Given the description of an element on the screen output the (x, y) to click on. 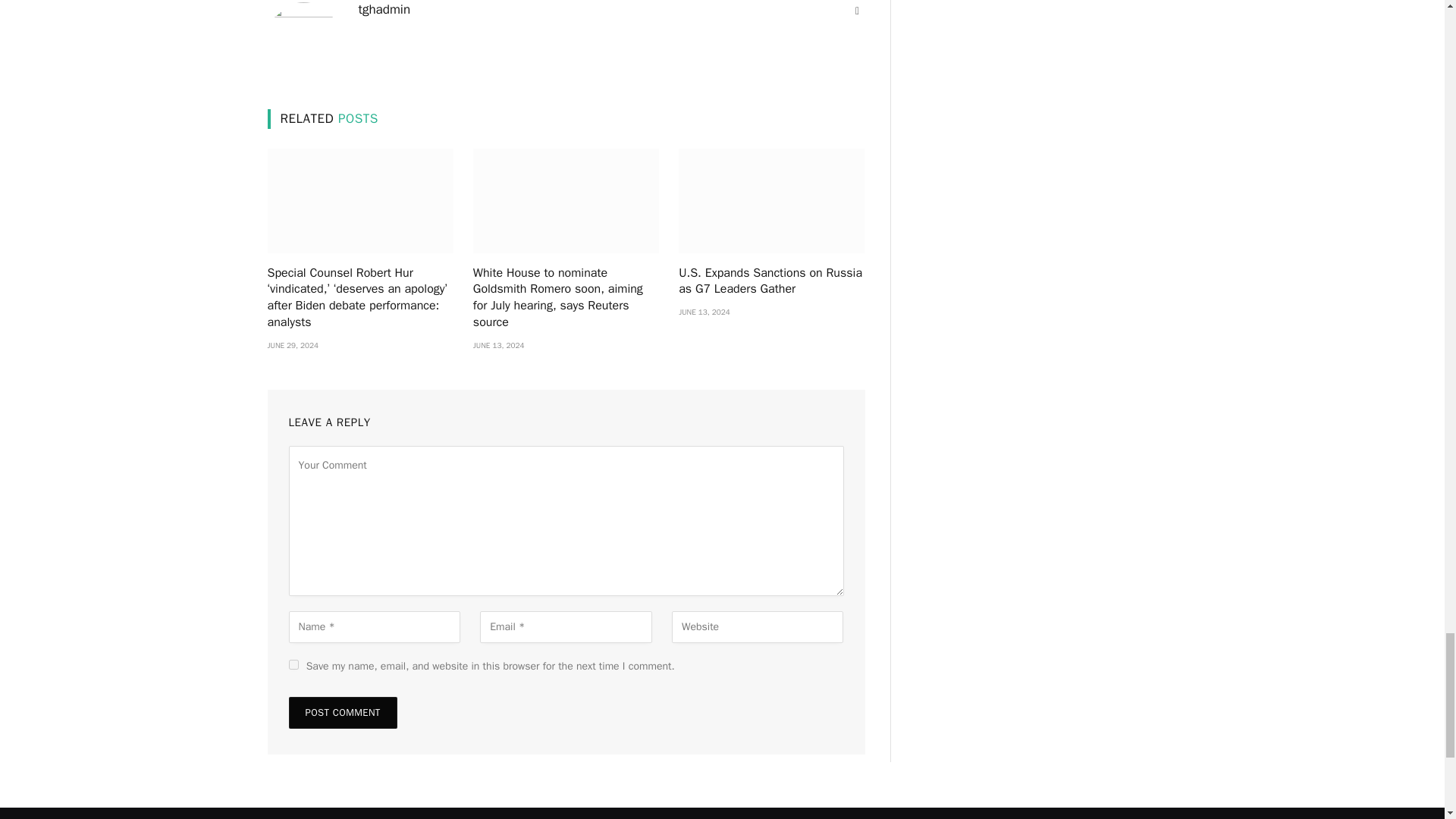
Posts by tghadmin (384, 9)
Post Comment (342, 712)
Website (856, 11)
yes (293, 664)
